Given the description of an element on the screen output the (x, y) to click on. 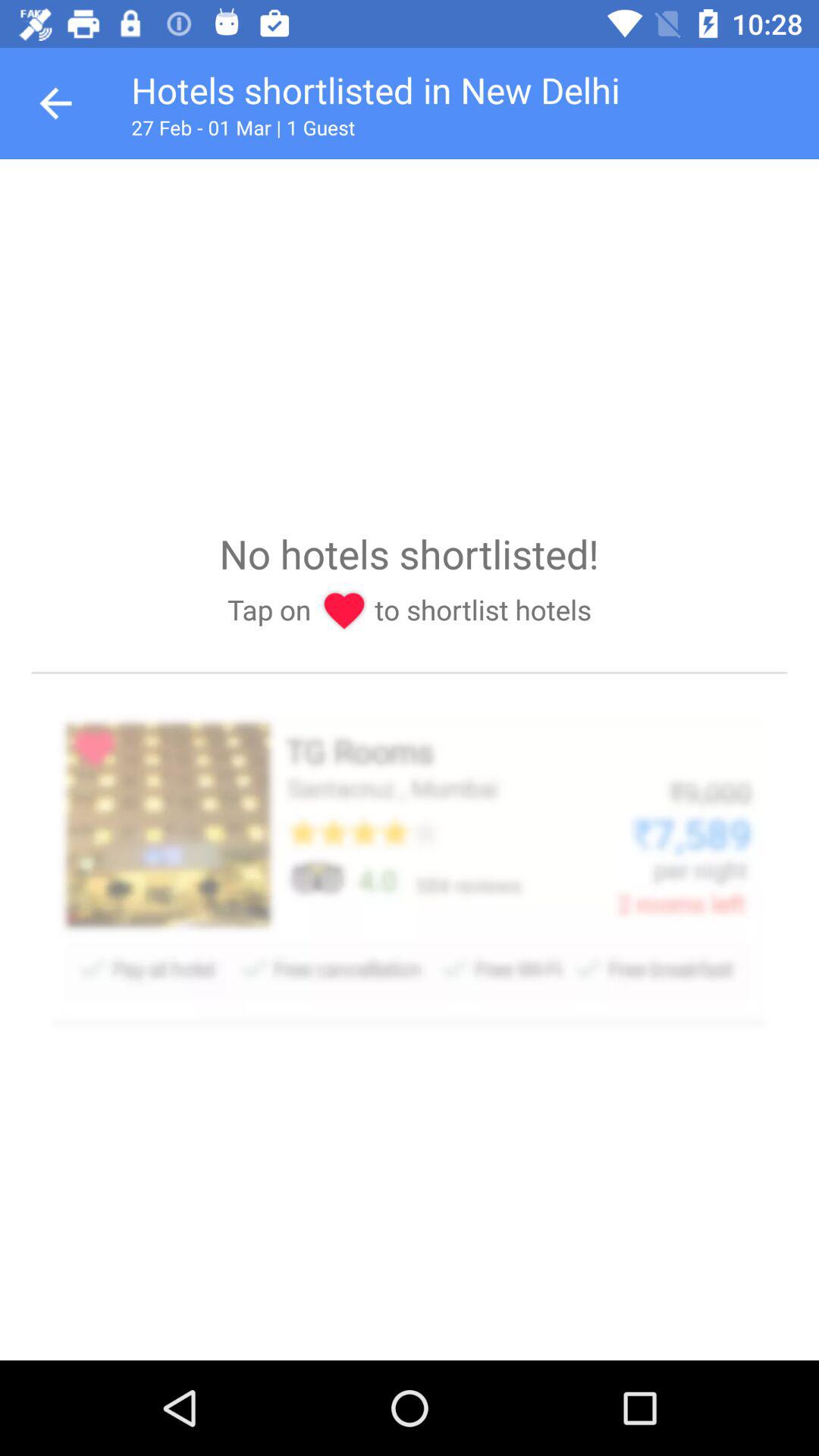
go back to previous page (55, 103)
